Given the description of an element on the screen output the (x, y) to click on. 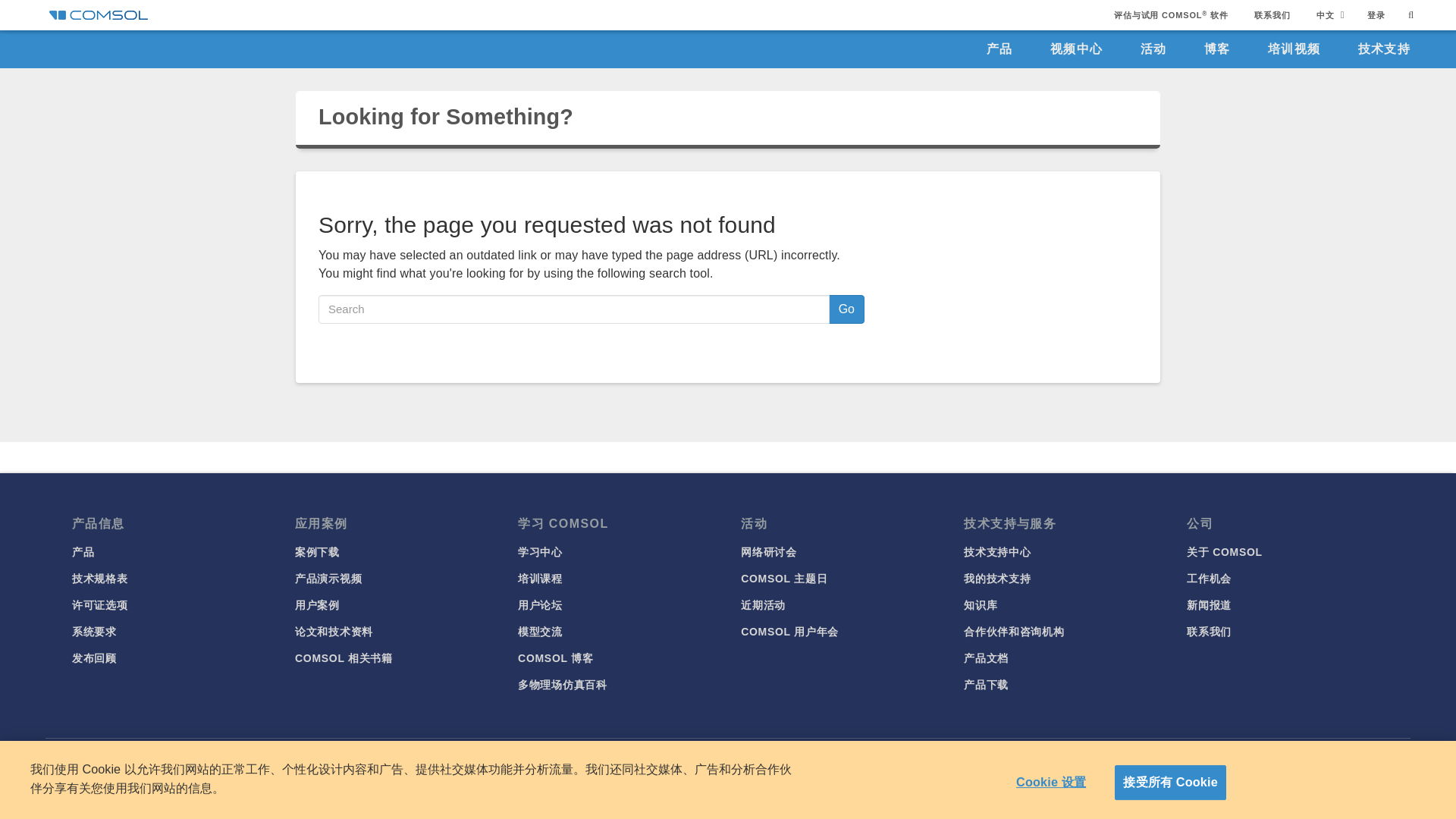
Go (846, 308)
Go (846, 308)
